Given the description of an element on the screen output the (x, y) to click on. 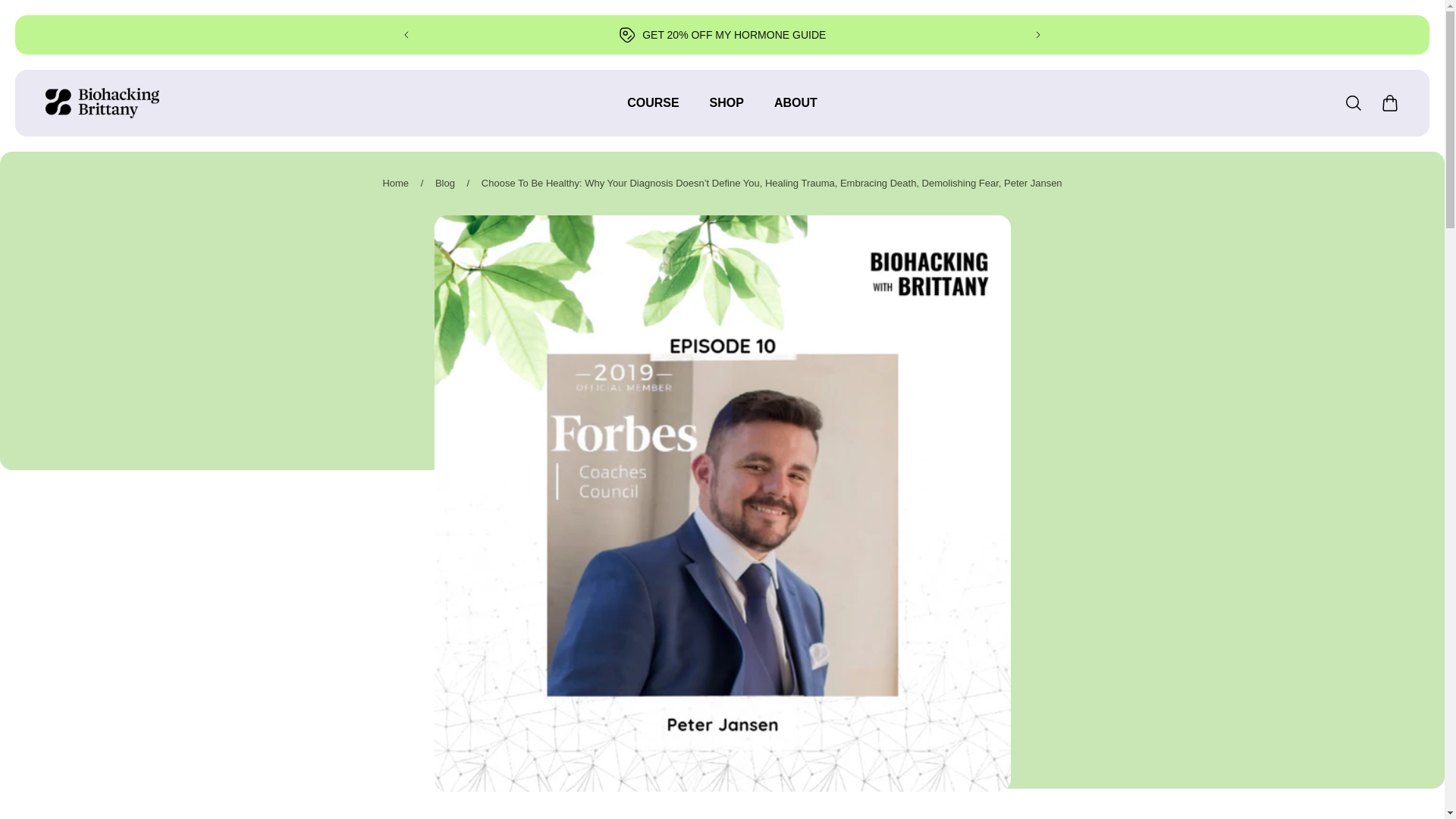
ABOUT (795, 110)
Home (395, 183)
SHOP (726, 110)
COURSE (652, 110)
Blog (444, 183)
